Given the description of an element on the screen output the (x, y) to click on. 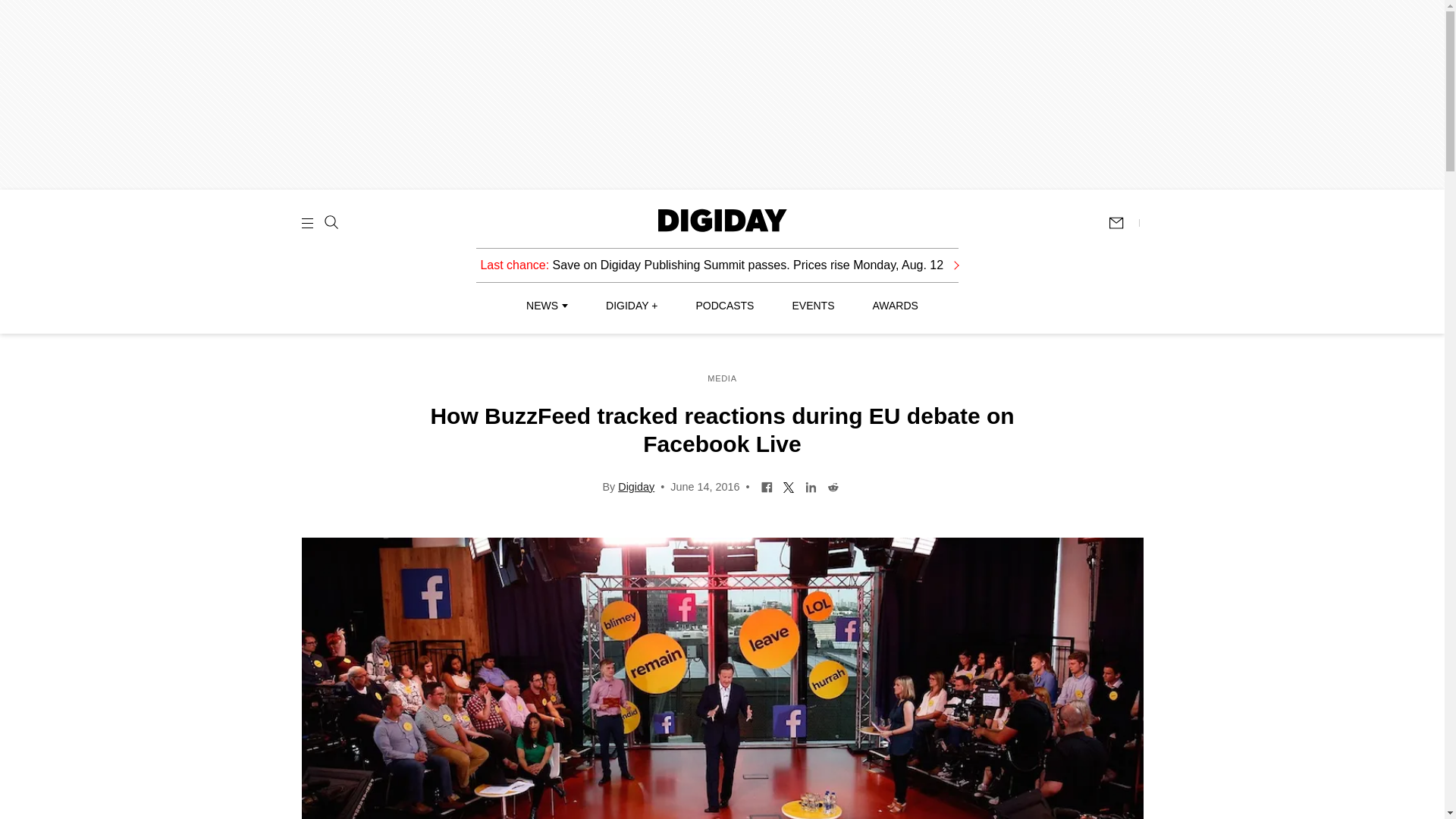
Share on Facebook (766, 485)
AWARDS (894, 305)
Share on Twitter (788, 485)
EVENTS (813, 305)
Subscribe (1123, 223)
PODCASTS (725, 305)
NEWS (546, 305)
Share on LinkedIn (810, 485)
Share on Reddit (833, 485)
